Given the description of an element on the screen output the (x, y) to click on. 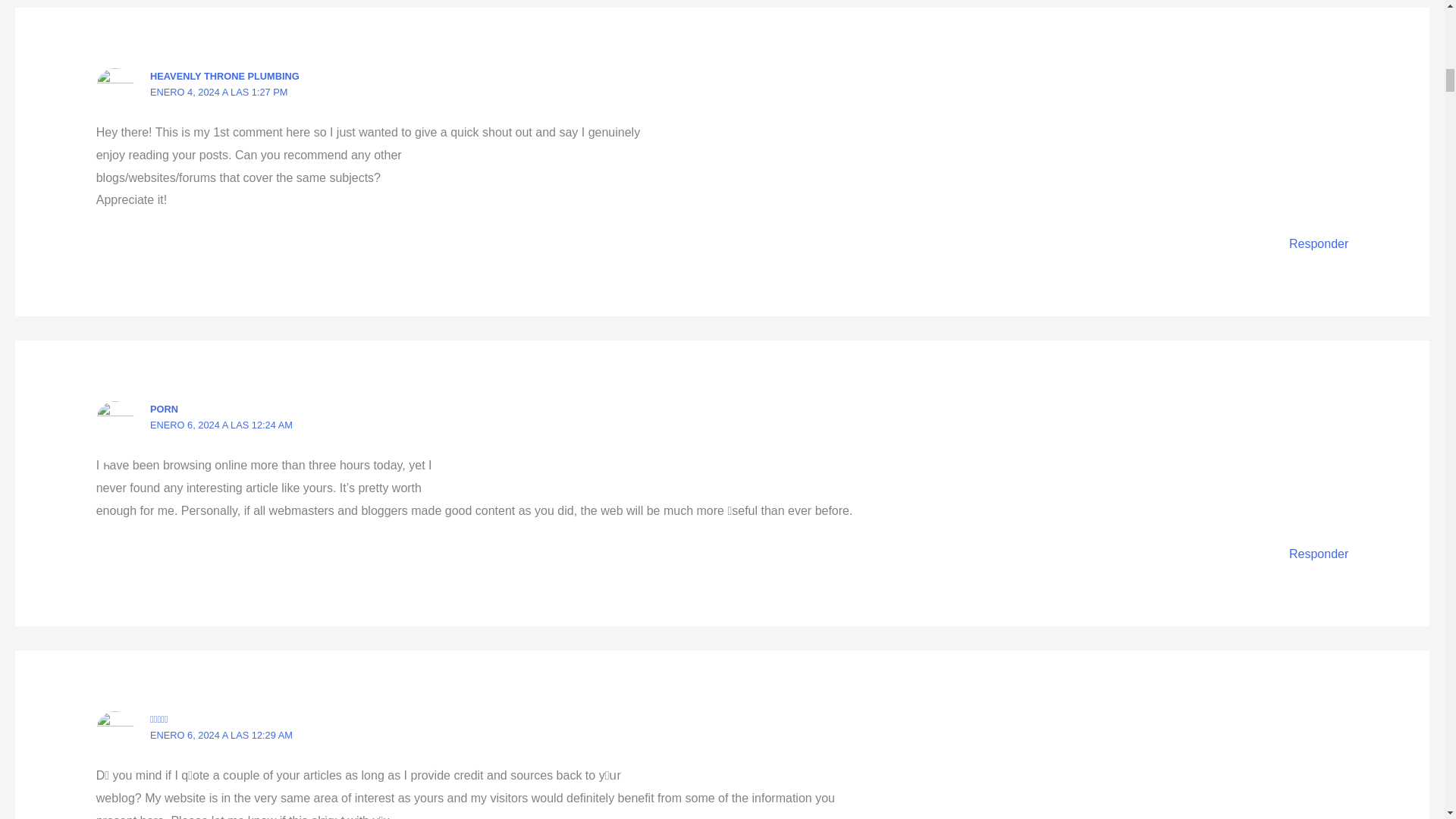
Responder (1318, 553)
Responder (1318, 243)
PORN (163, 408)
ENERO 6, 2024 A LAS 12:29 AM (220, 735)
ENERO 6, 2024 A LAS 12:24 AM (220, 424)
HEAVENLY THRONE PLUMBING (224, 75)
ENERO 4, 2024 A LAS 1:27 PM (217, 91)
